Given the description of an element on the screen output the (x, y) to click on. 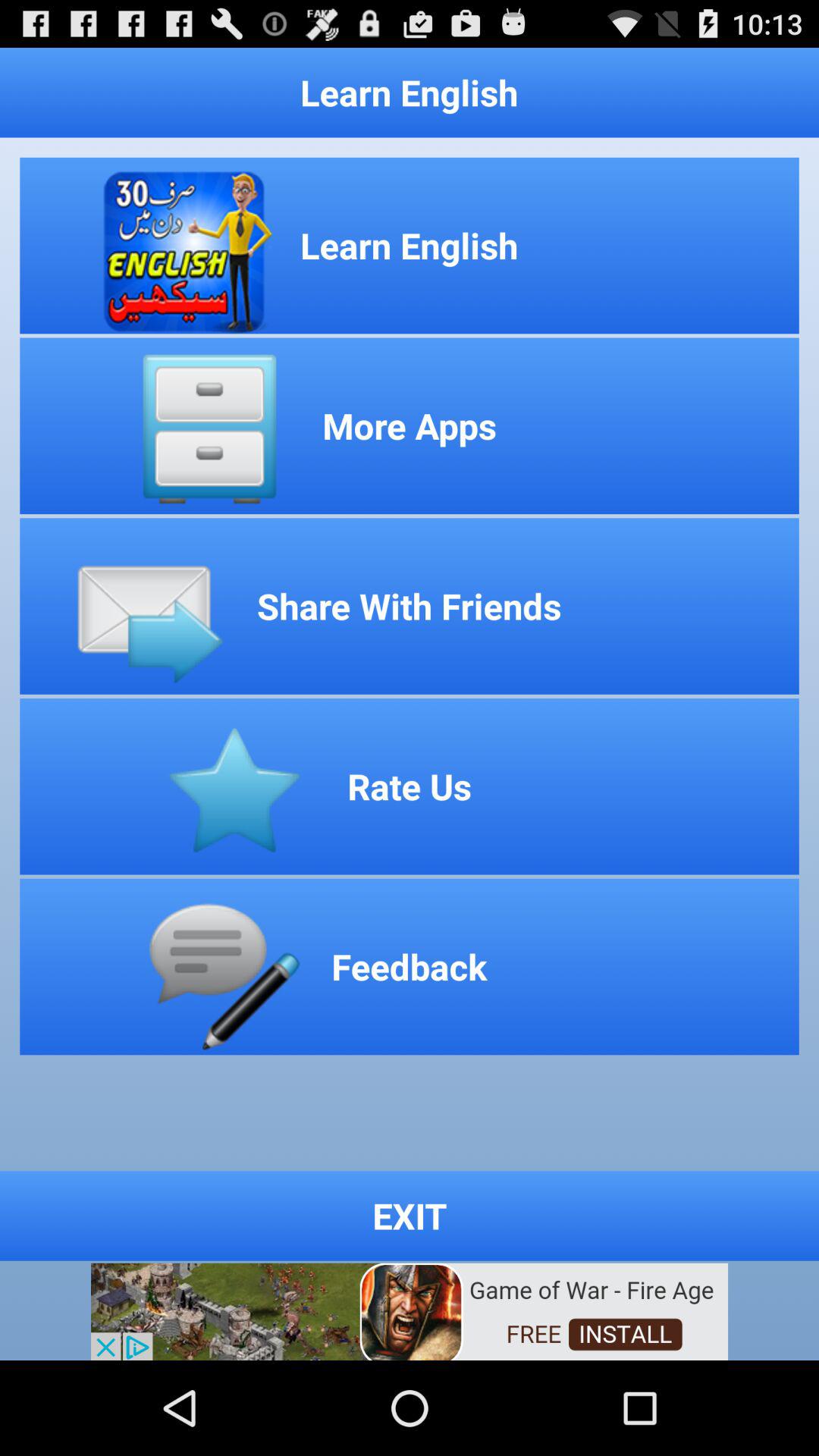
advertising (409, 1310)
